Given the description of an element on the screen output the (x, y) to click on. 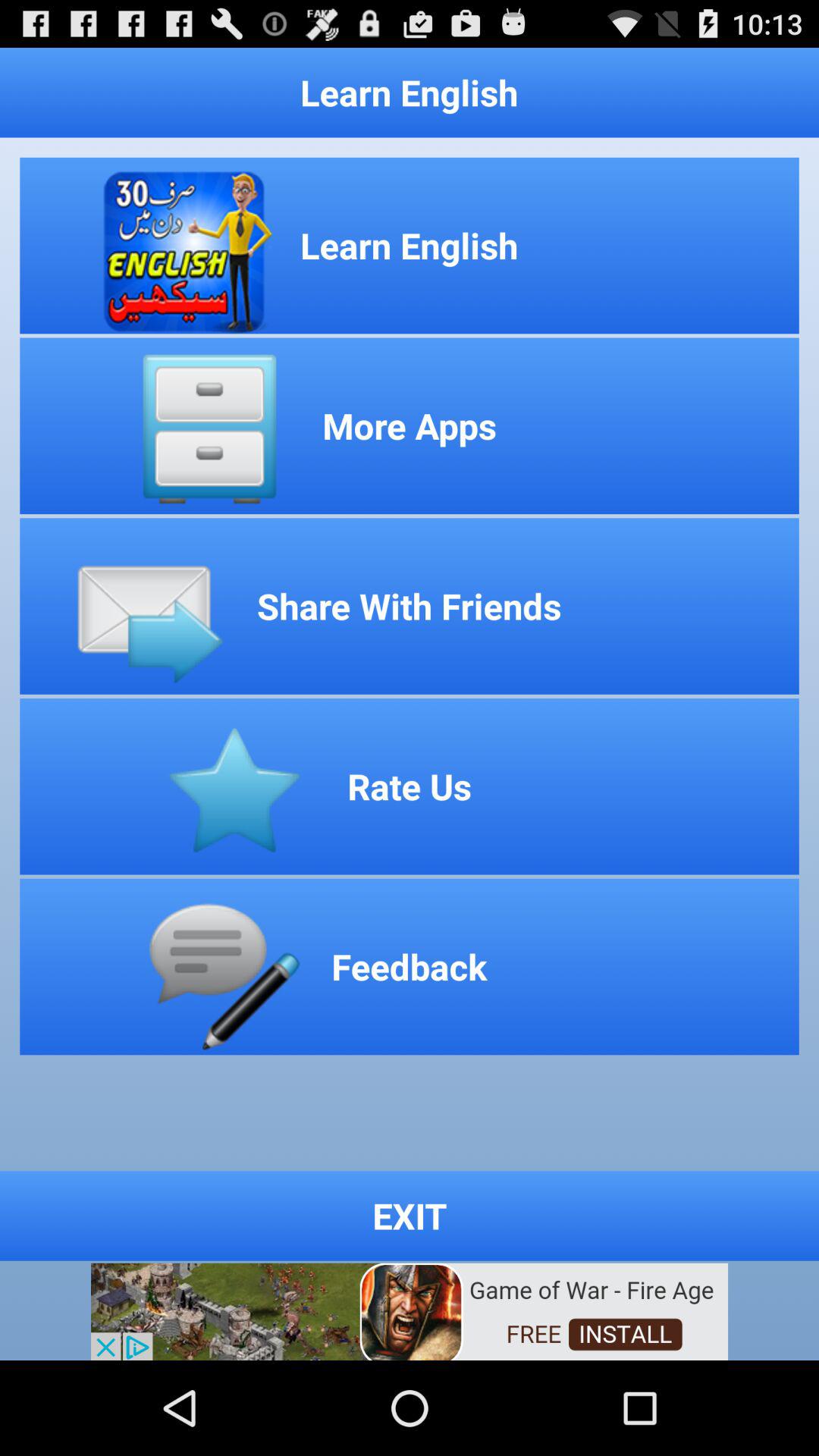
advertising (409, 1310)
